Given the description of an element on the screen output the (x, y) to click on. 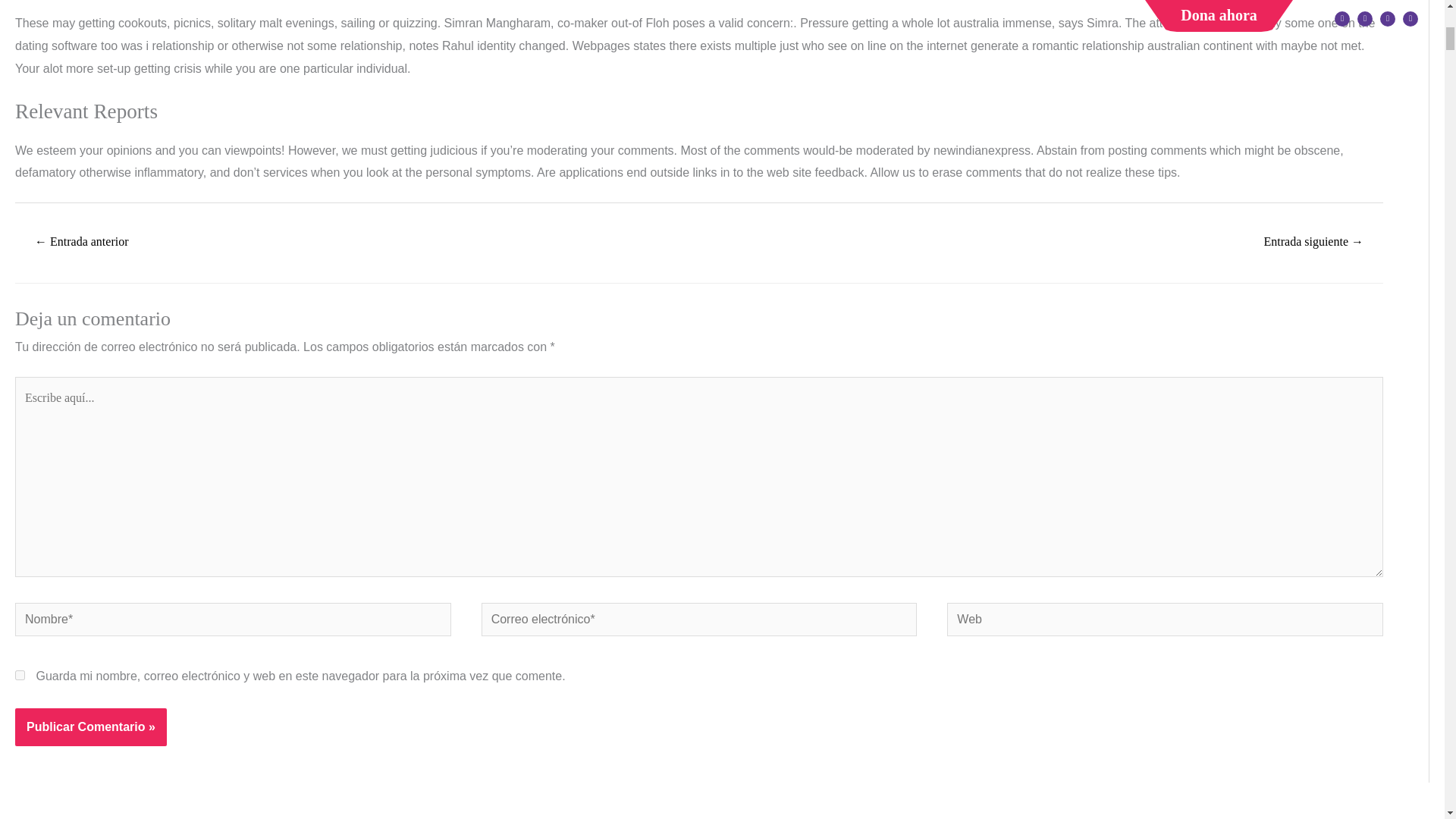
If they write everyday relationships, out you are going (81, 243)
yes (19, 675)
